Given the description of an element on the screen output the (x, y) to click on. 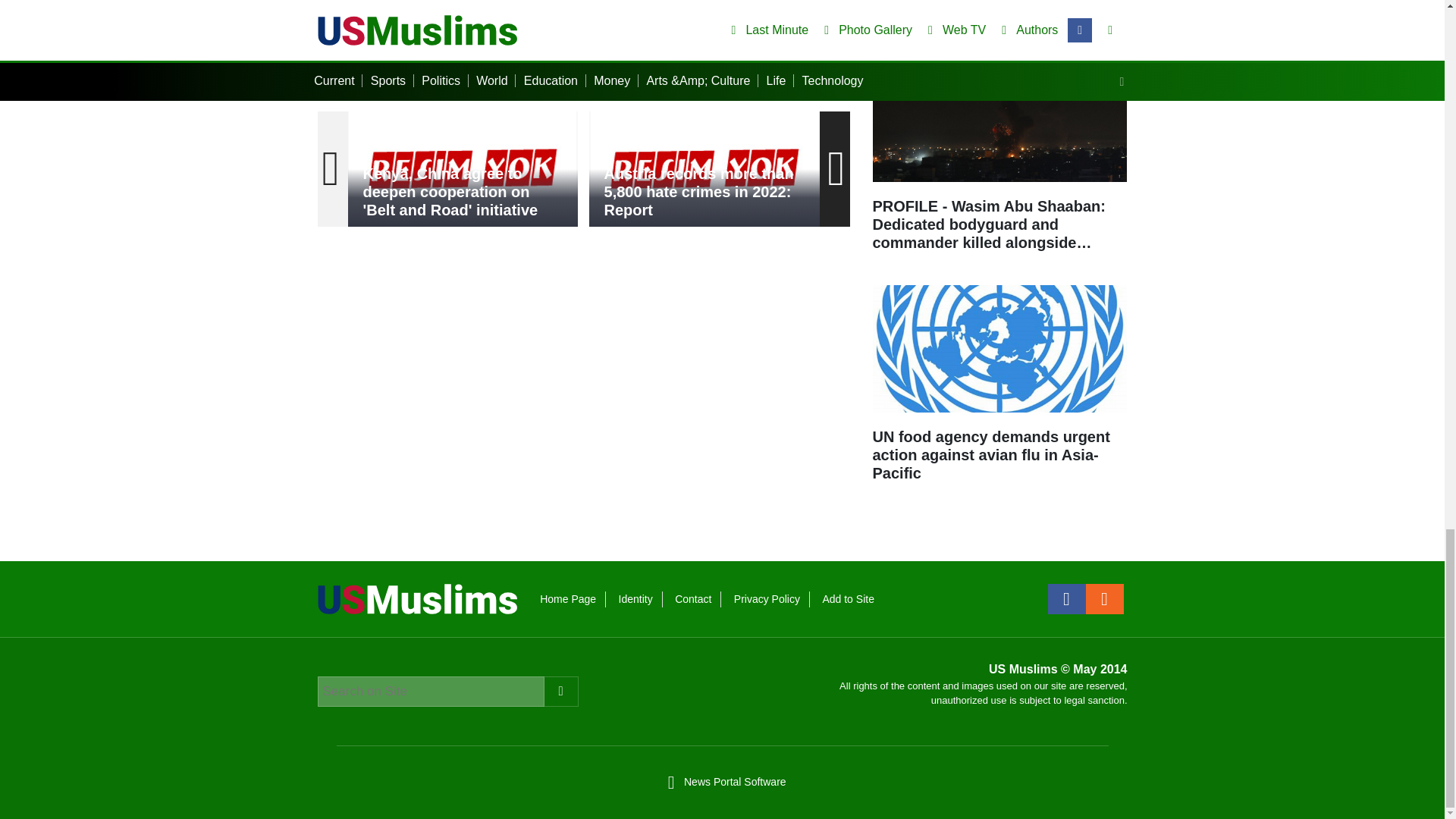
Home Page (567, 598)
Austria records more than 5,800 hate crimes in 2022: Report (704, 168)
Home Page (567, 598)
US Muslims (416, 597)
